Given the description of an element on the screen output the (x, y) to click on. 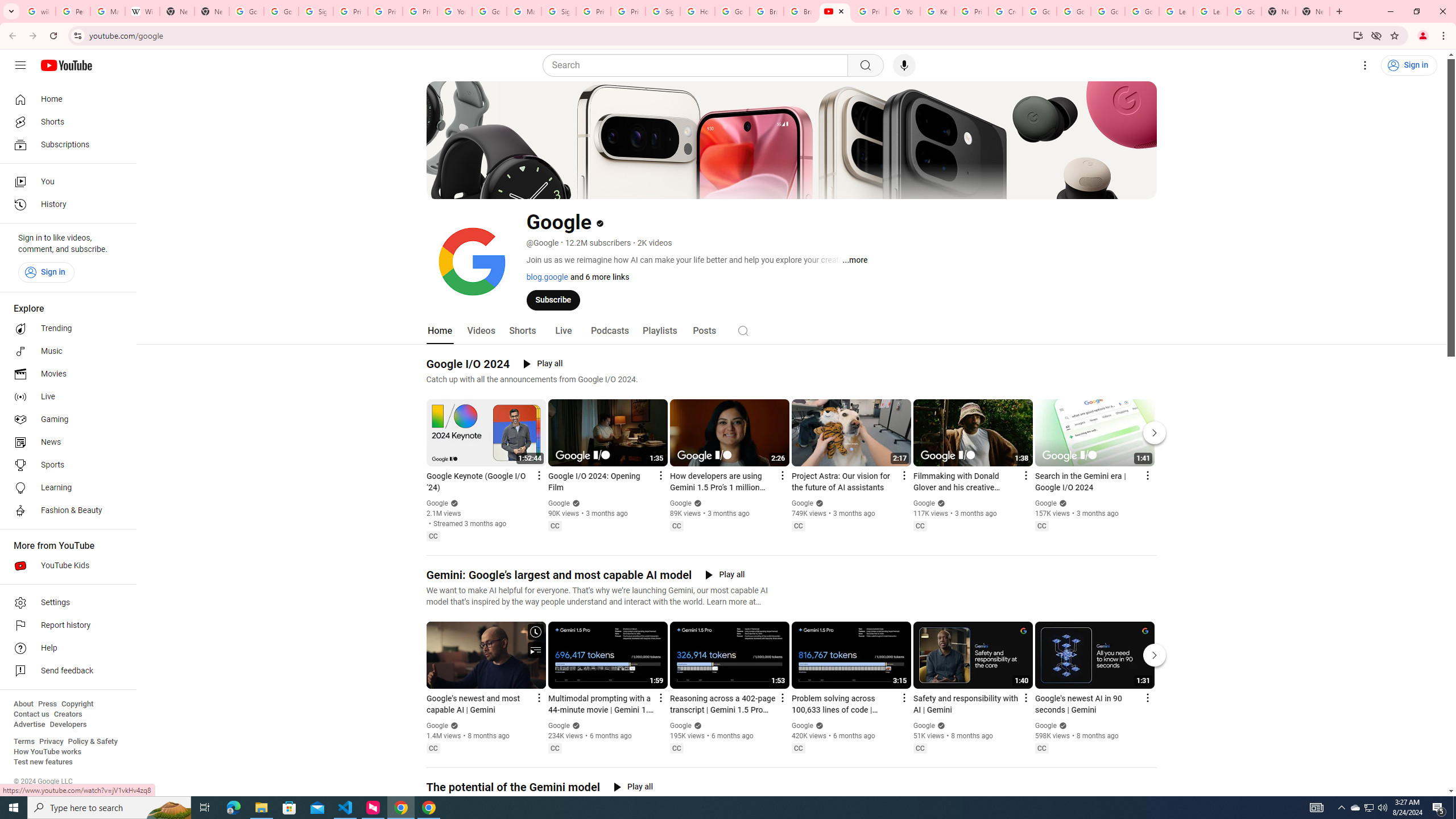
Google Account (1243, 11)
Google Account Help (1141, 11)
Music (64, 350)
Gaming (64, 419)
Google Account Help (1039, 11)
Wikipedia:Edit requests - Wikipedia (141, 11)
